Given the description of an element on the screen output the (x, y) to click on. 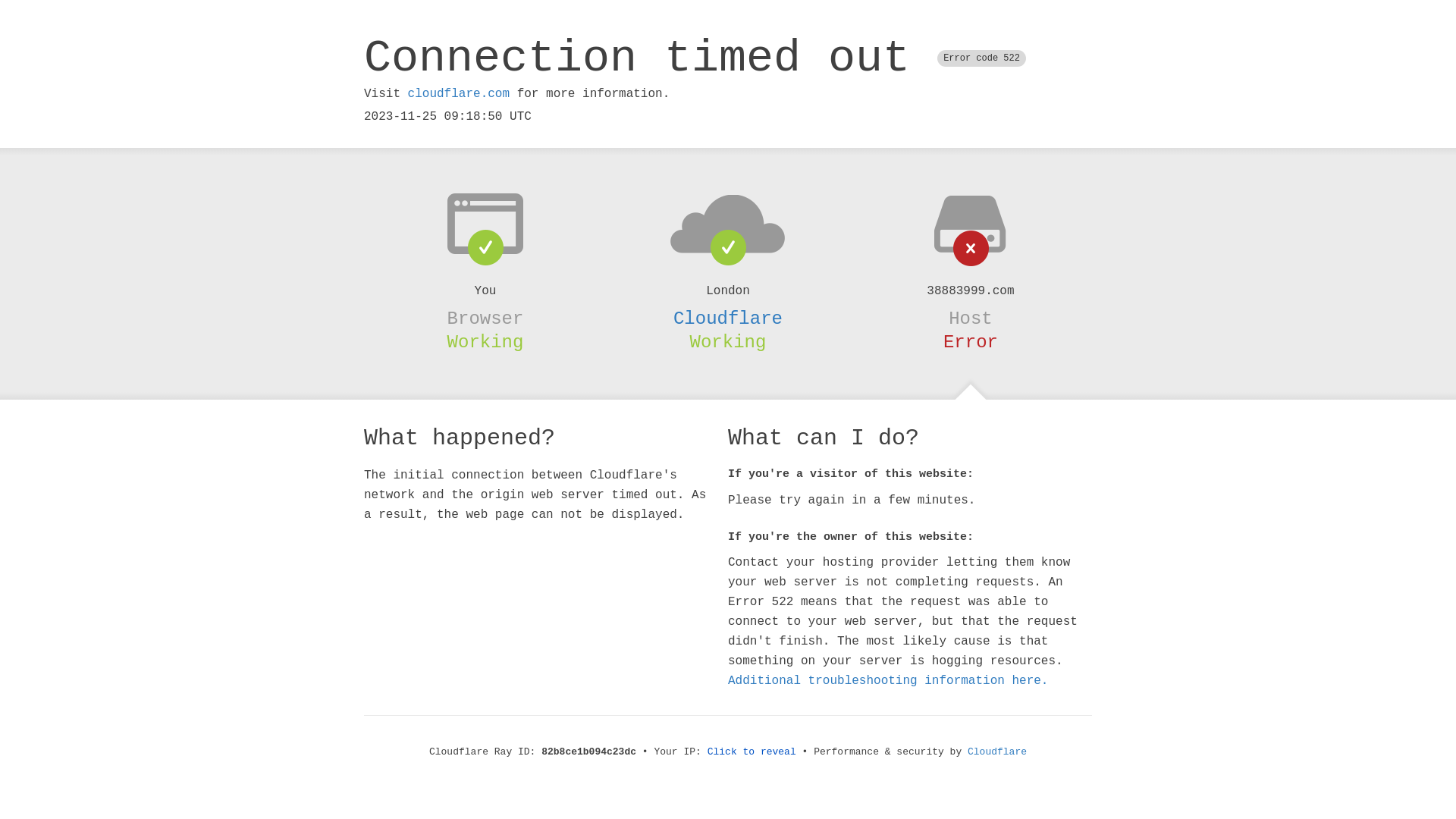
Additional troubleshooting information here. Element type: text (888, 680)
Cloudflare Element type: text (727, 318)
cloudflare.com Element type: text (458, 93)
Cloudflare Element type: text (996, 751)
Click to reveal Element type: text (751, 751)
